Given the description of an element on the screen output the (x, y) to click on. 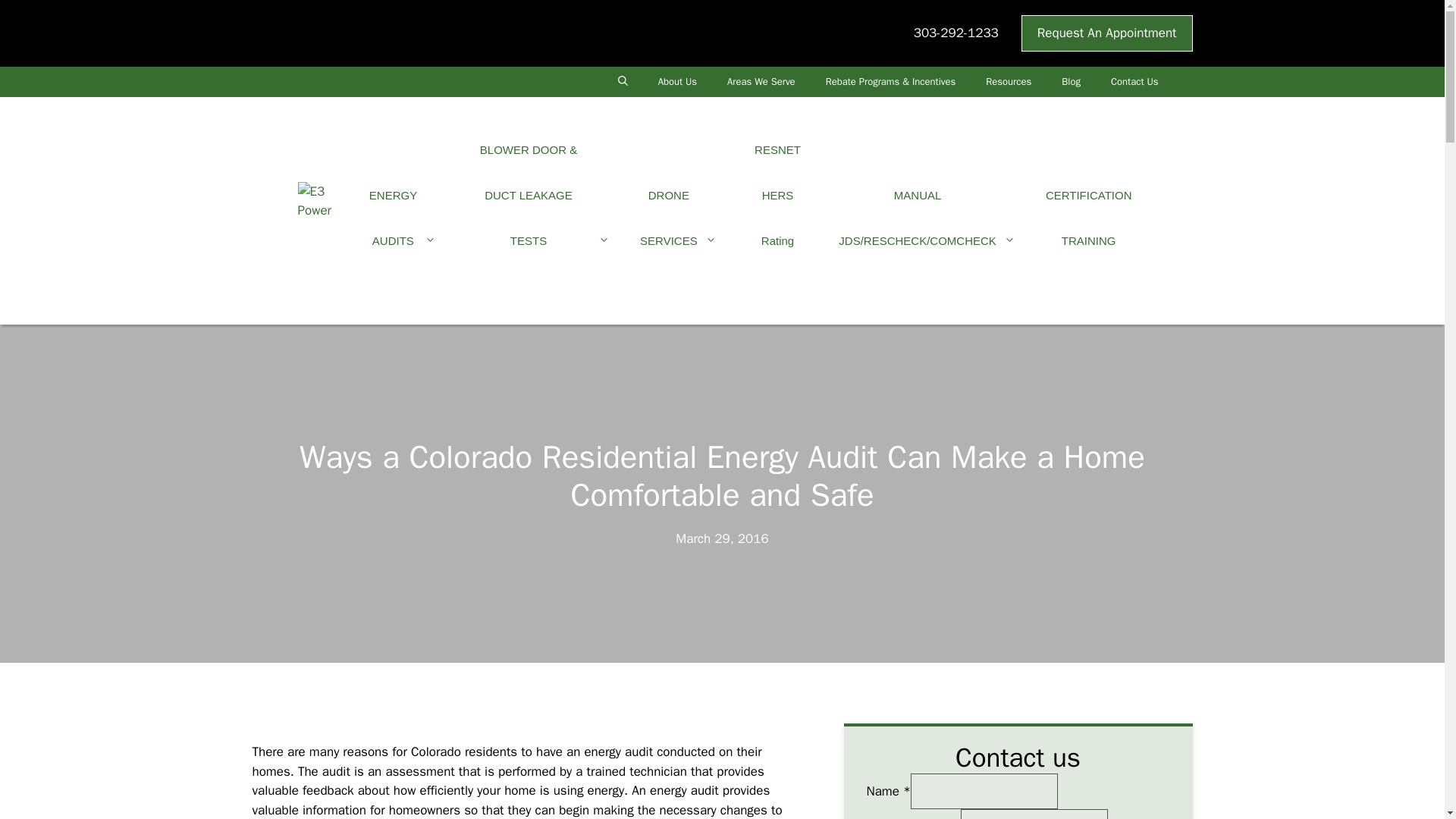
Request An Appointment (1107, 33)
About Us (677, 81)
Areas We Serve (760, 81)
CERTIFICATION TRAINING (1088, 217)
Resources (1008, 81)
Contact Us (1134, 81)
ENERGY AUDITS (402, 217)
303-292-1233 (956, 32)
Blog (1071, 81)
DRONE SERVICES (678, 217)
